Given the description of an element on the screen output the (x, y) to click on. 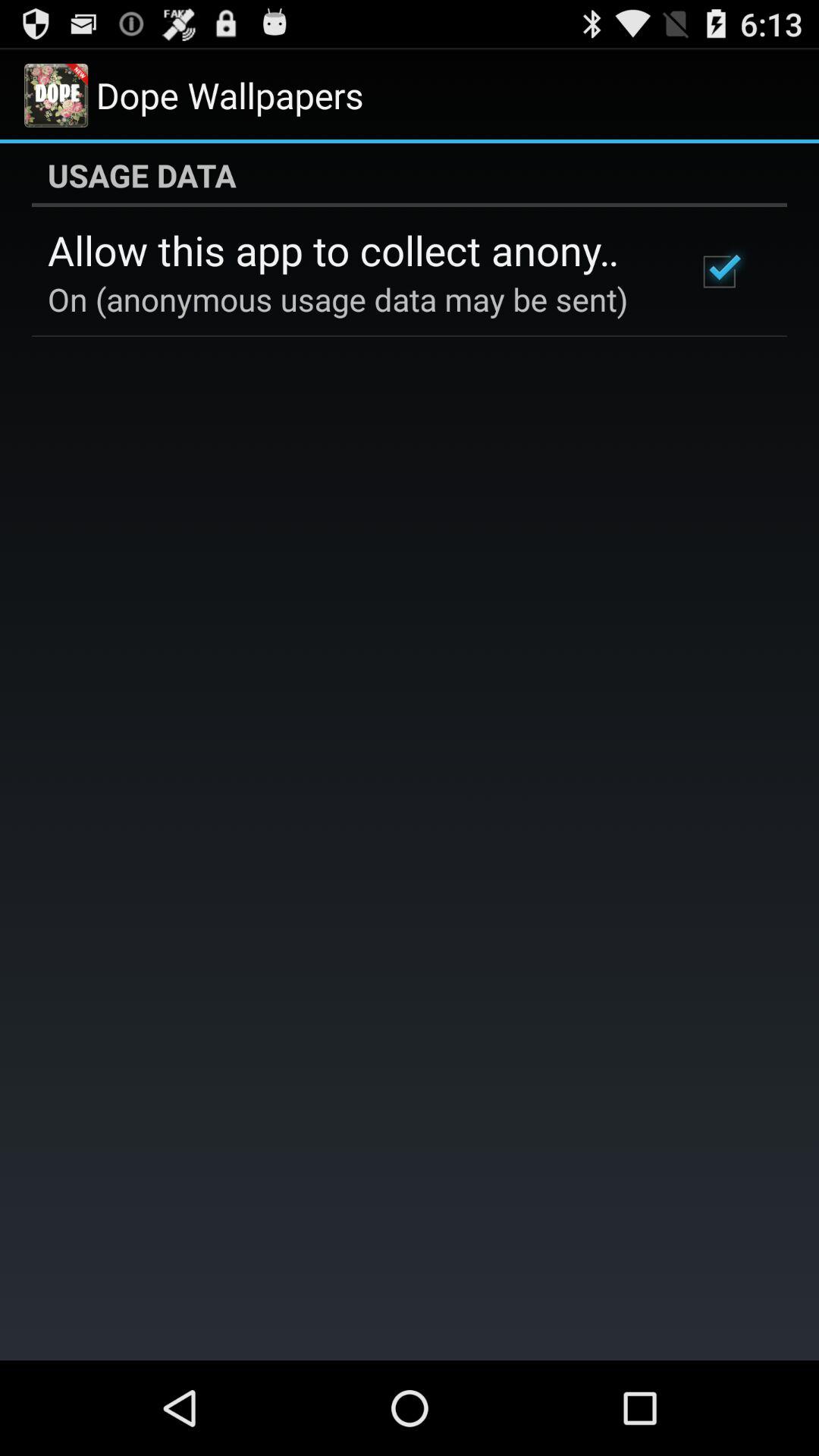
tap the allow this app icon (351, 249)
